Given the description of an element on the screen output the (x, y) to click on. 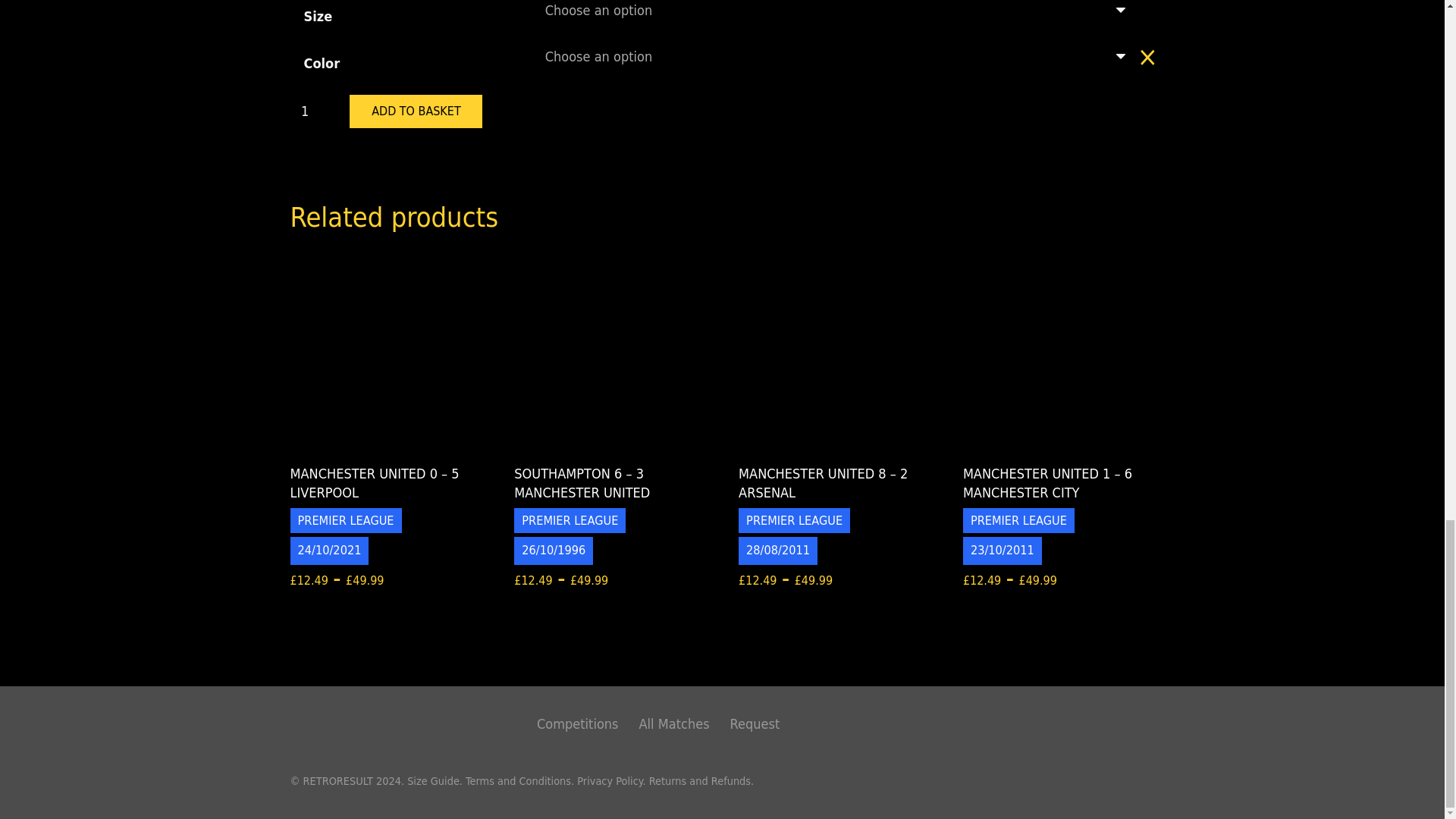
ADD TO BASKET (415, 111)
PREMIER LEAGUE (345, 520)
1 (317, 111)
